Given the description of an element on the screen output the (x, y) to click on. 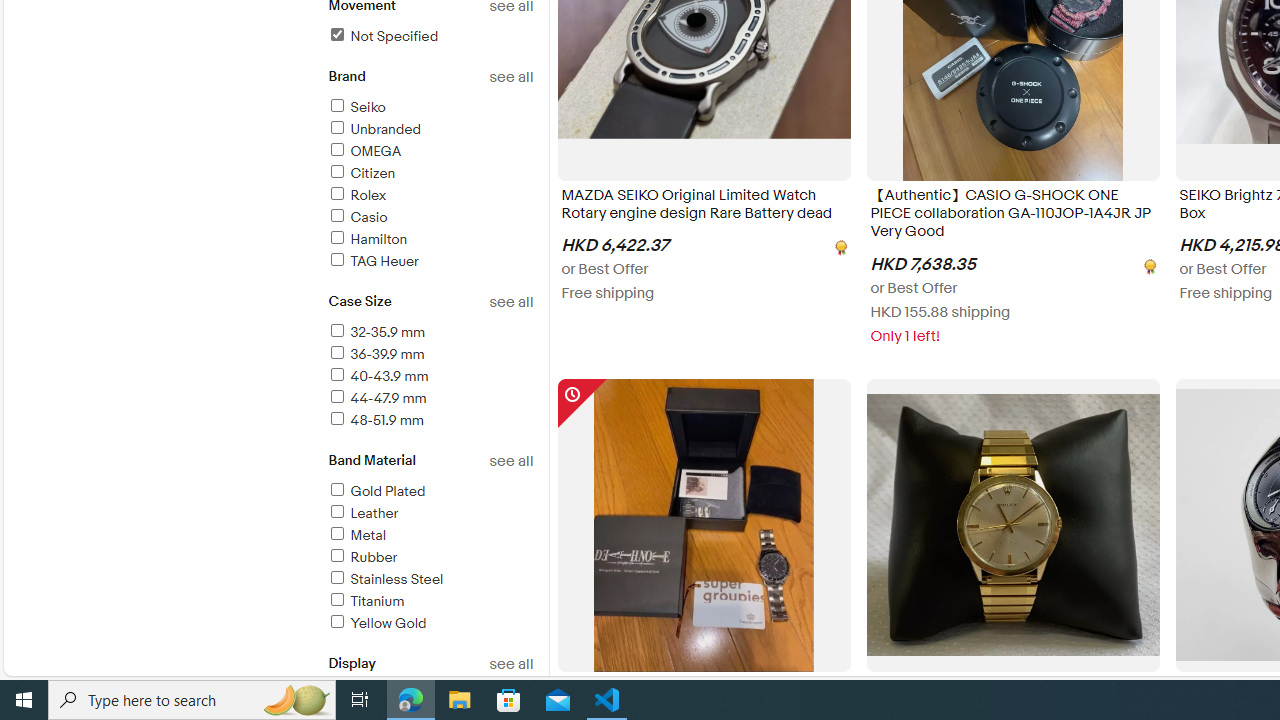
Citizen (360, 173)
Citizen (430, 174)
Rolex (430, 196)
Casio (430, 218)
See all display refinements (510, 664)
Metal (430, 536)
32-35.9 mm (376, 332)
